Given the description of an element on the screen output the (x, y) to click on. 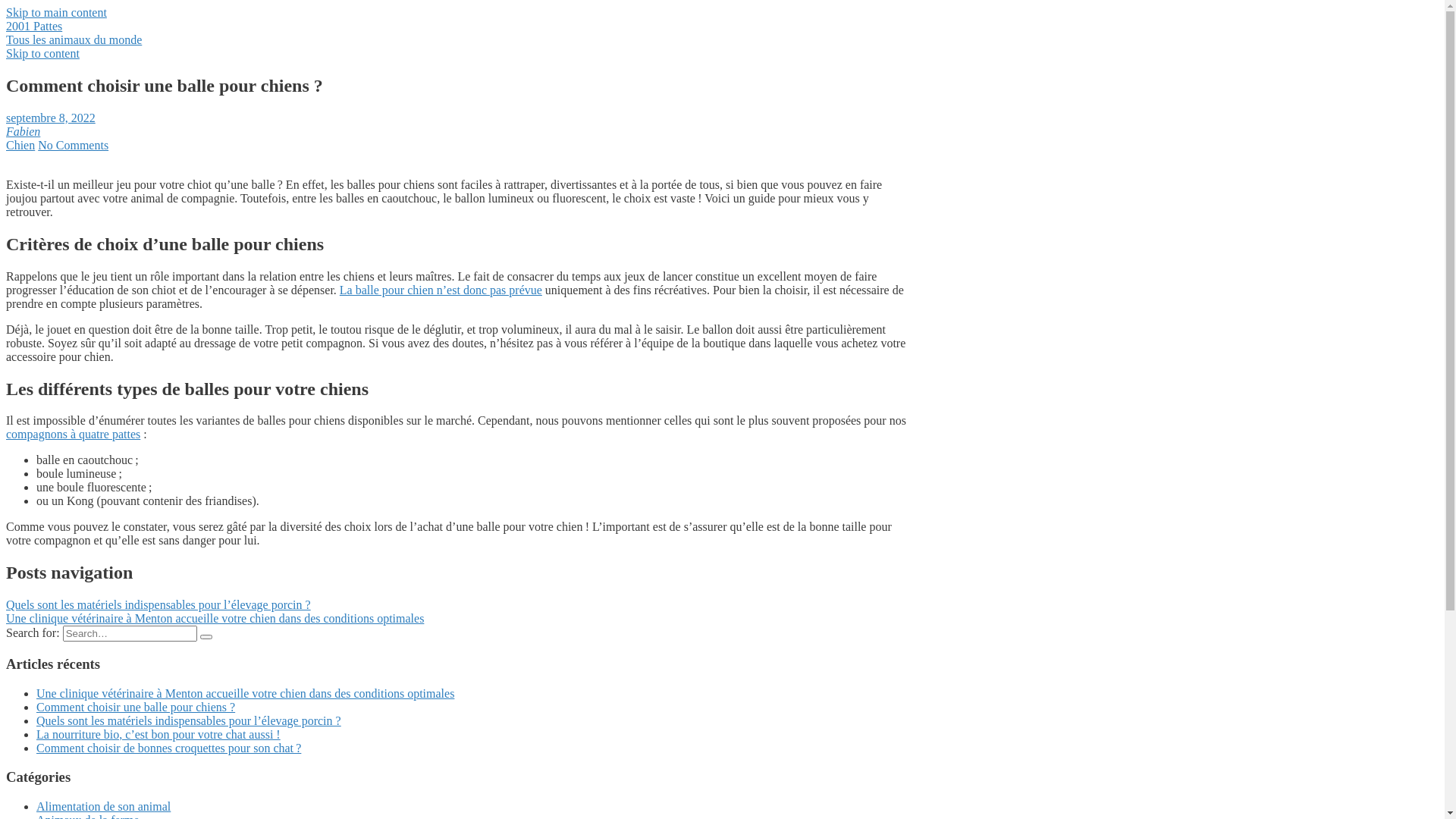
Alimentation de son animal Element type: text (103, 806)
Skip to main content Element type: text (56, 12)
Chien Element type: text (20, 144)
septembre 8, 2022 Element type: text (50, 117)
No Comments Element type: text (72, 144)
Skip to content Element type: text (42, 53)
2001 Pattes
Tous les animaux du monde Element type: text (461, 33)
Fabien Element type: text (23, 131)
Comment choisir une balle pour chiens ? Element type: text (135, 706)
